Given the description of an element on the screen output the (x, y) to click on. 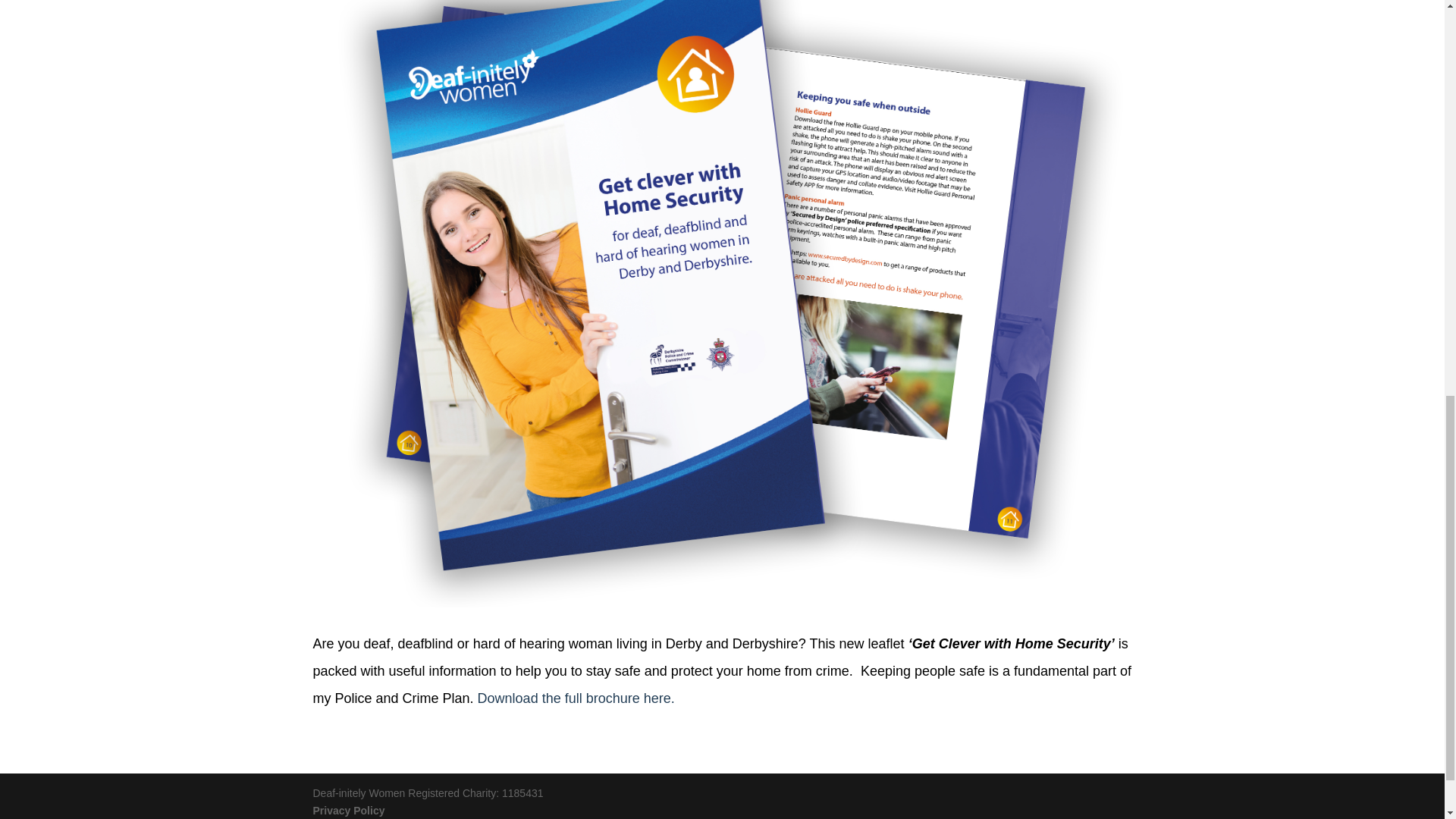
Download the full brochure here. (576, 698)
Privacy Policy (348, 810)
